Given the description of an element on the screen output the (x, y) to click on. 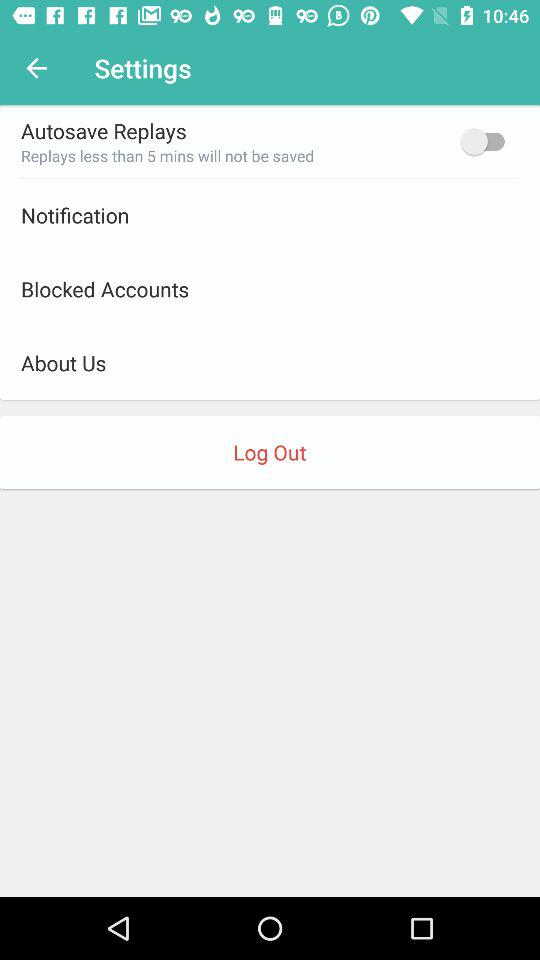
choose the icon next to settings icon (36, 68)
